Given the description of an element on the screen output the (x, y) to click on. 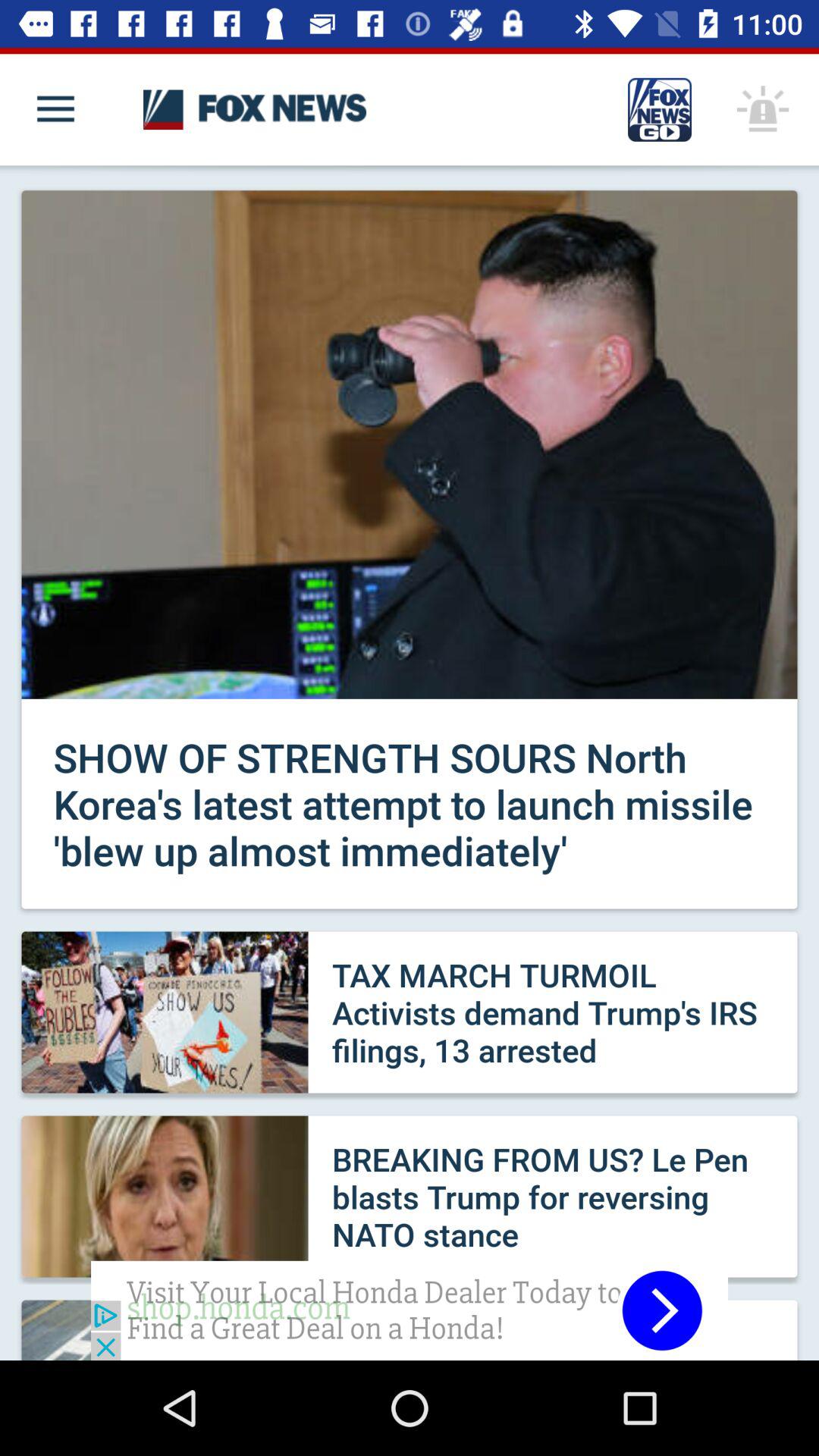
click on the second news feed (409, 1012)
click on the alert icon (762, 109)
click on the first image of the page (409, 444)
